Given the description of an element on the screen output the (x, y) to click on. 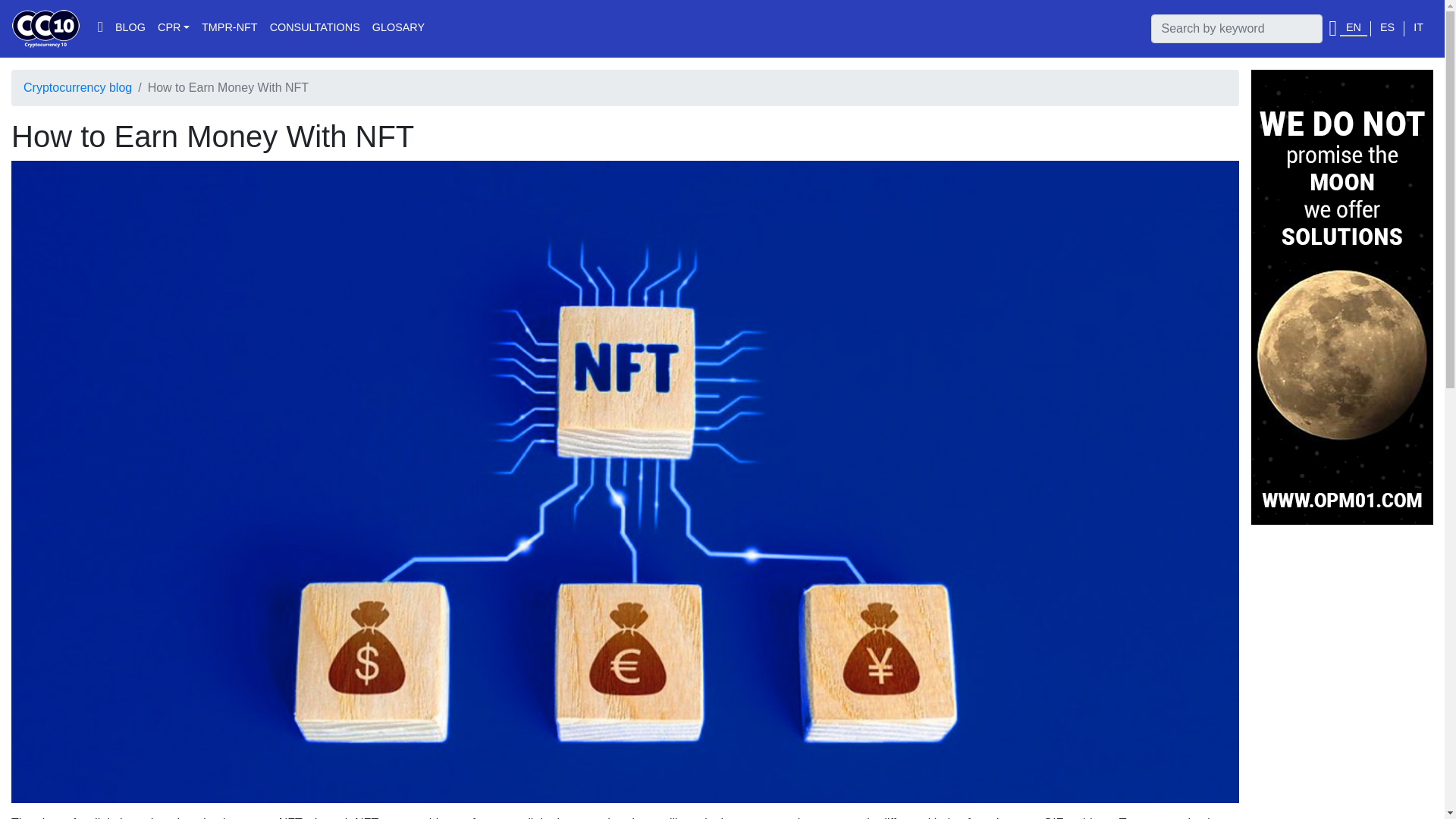
GLOSARY (398, 28)
Cryptocurrencies Public Register (173, 28)
EN (1353, 28)
CPR (173, 28)
Cryptocurrency10.com (45, 28)
HOME (100, 28)
ES (1387, 28)
IT (1418, 28)
CONSULTATIONS (314, 28)
Cryptocurrency blog (77, 87)
BLOG (130, 28)
APP Cryptocurrency10 (1331, 27)
TMPR-NFT (229, 28)
